Given the description of an element on the screen output the (x, y) to click on. 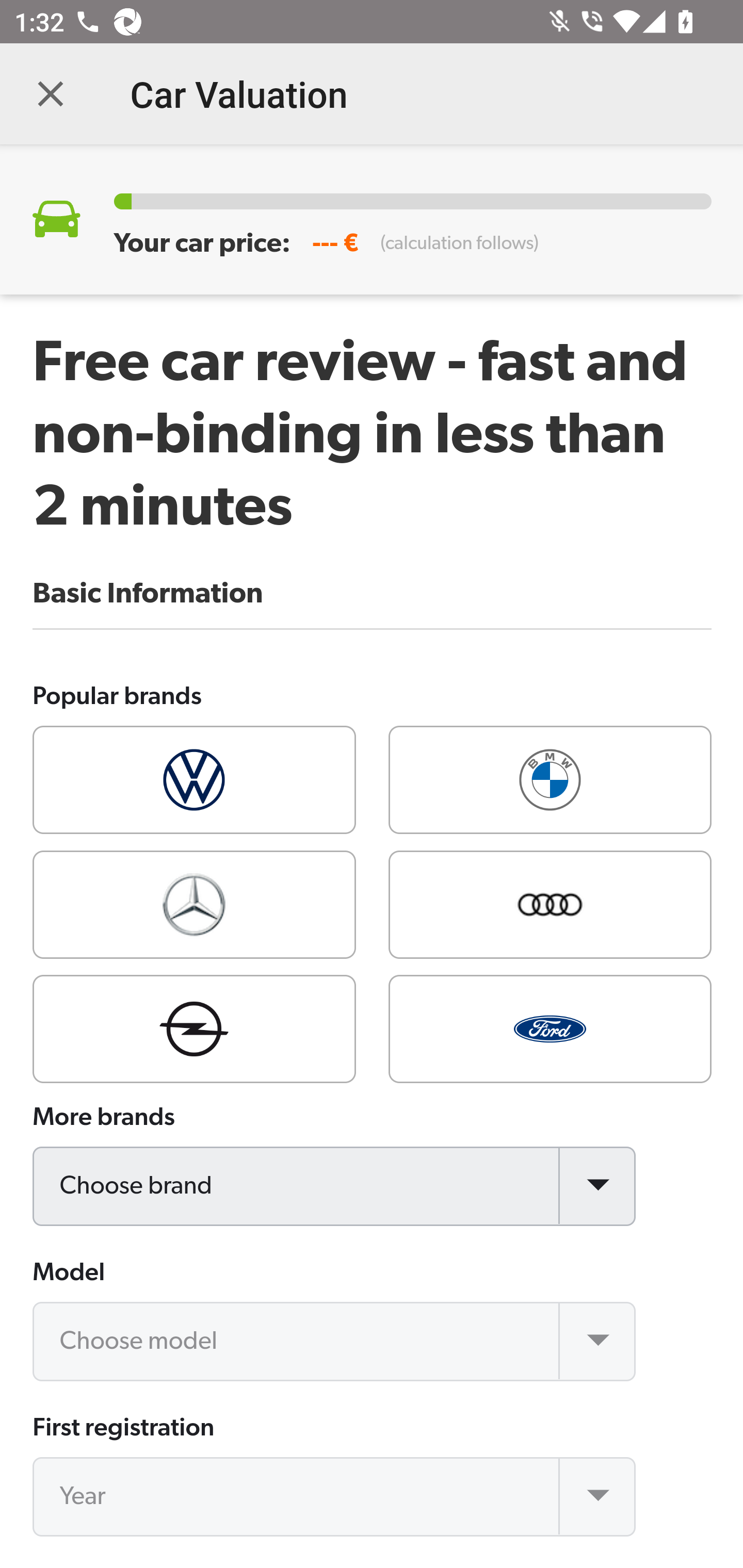
Navigate up (50, 93)
Choose brand (334, 1185)
Choose model (334, 1340)
Year (334, 1496)
Month (334, 1567)
